Given the description of an element on the screen output the (x, y) to click on. 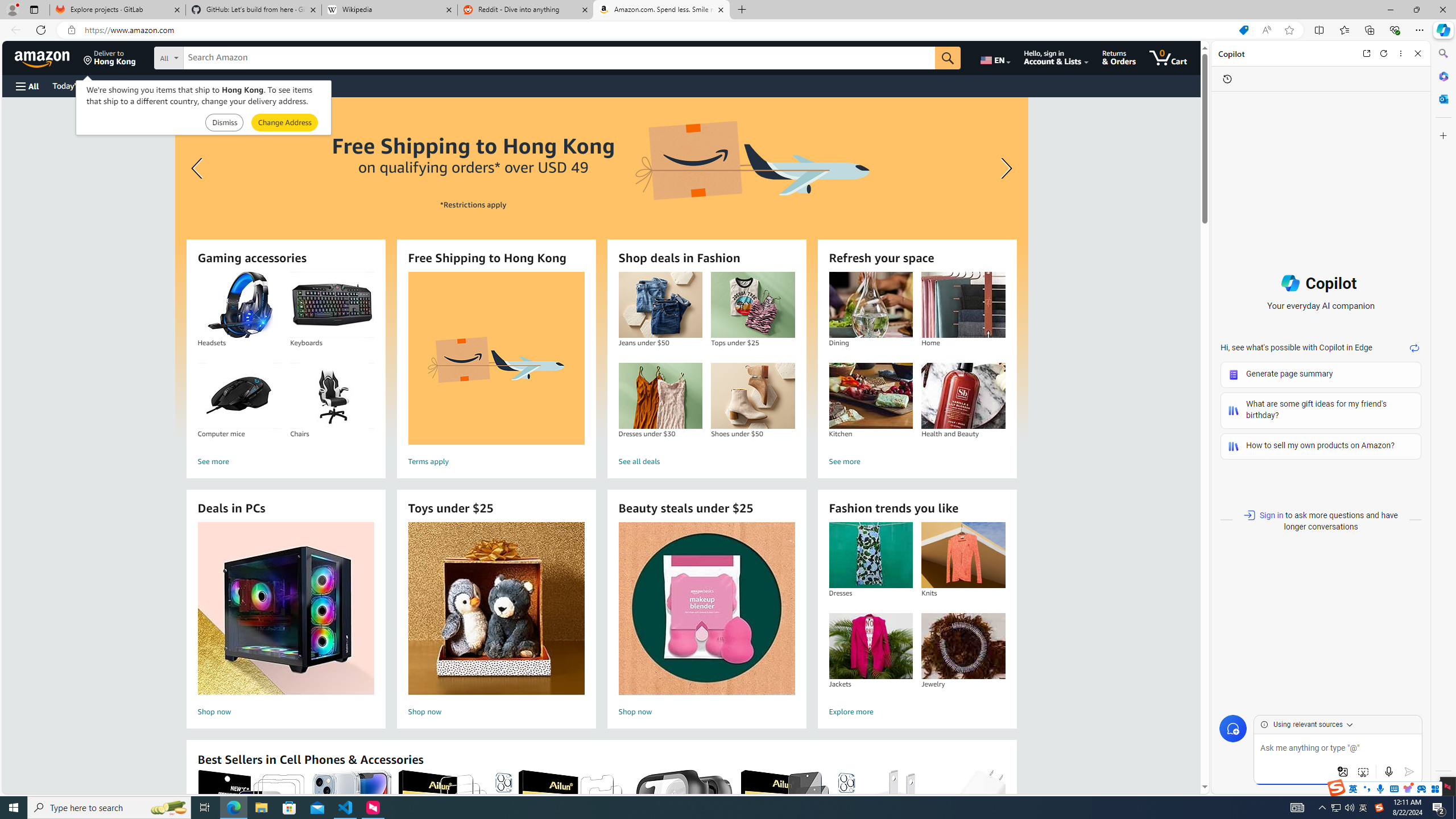
Dresses under $30 (659, 395)
Previous slide (198, 168)
Jeans under $50 (659, 304)
Chairs (331, 395)
Open Menu (26, 86)
Dresses (870, 555)
Reddit - Dive into anything (525, 9)
Kitchen (870, 395)
Dresses under $30 (660, 395)
